Given the description of an element on the screen output the (x, y) to click on. 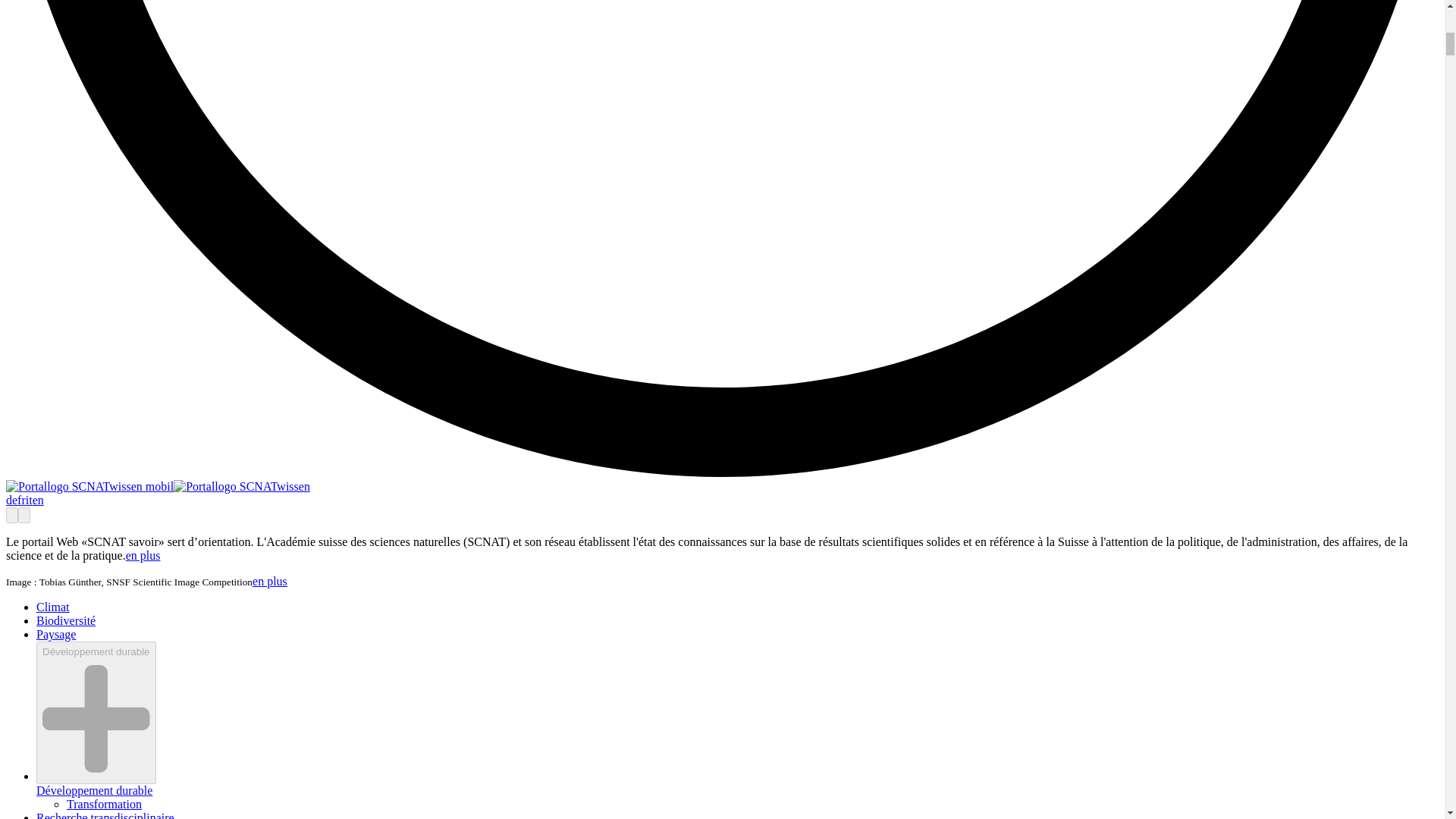
Paysage (55, 634)
Transformation (103, 803)
en plus (142, 554)
Recherche transdisciplinaire (105, 815)
en plus (268, 581)
Climat (52, 606)
